Given the description of an element on the screen output the (x, y) to click on. 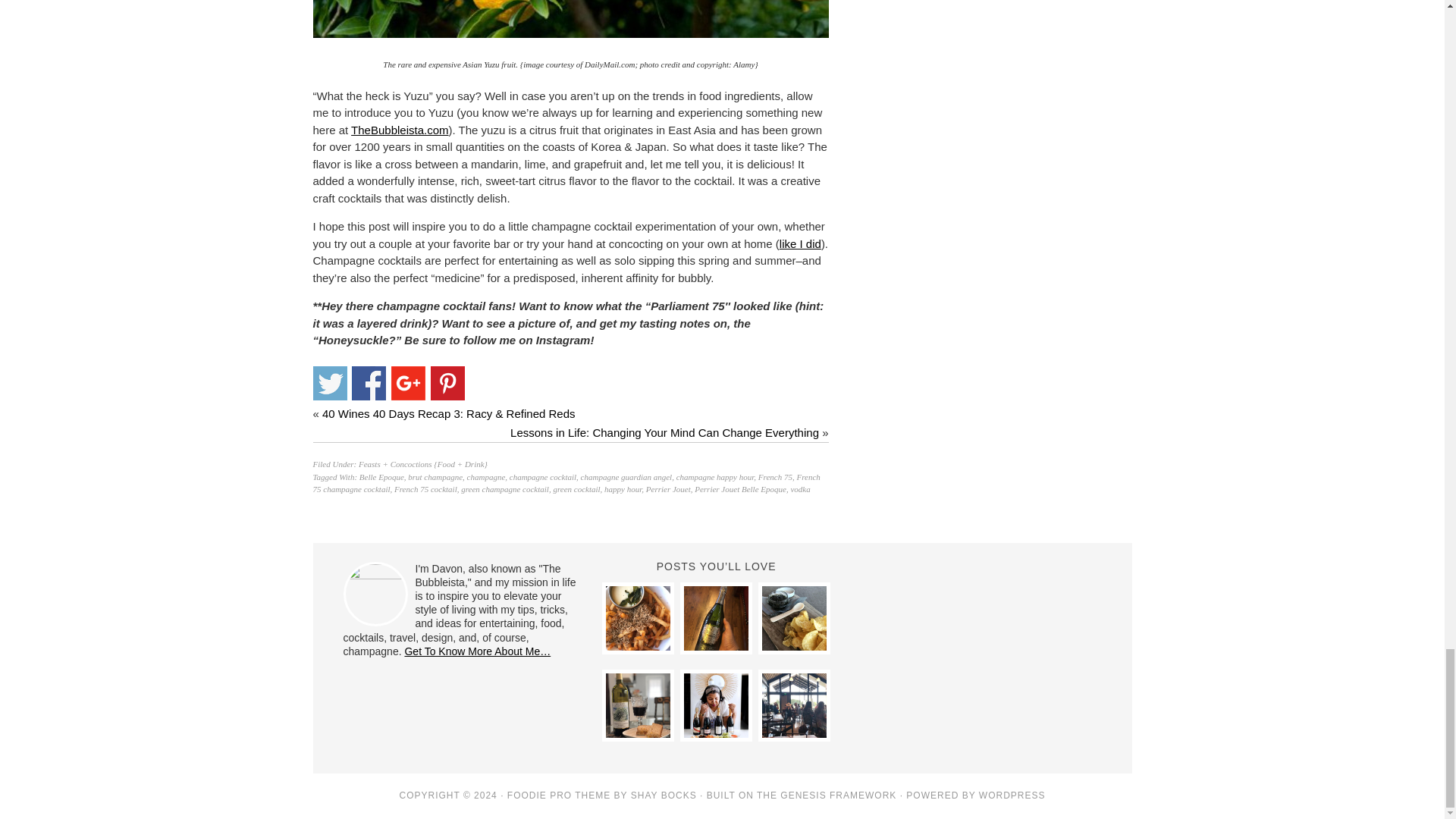
green champagne cocktail (504, 488)
Share on Twitter (329, 383)
happy hour (623, 488)
vodka (799, 488)
French 75 (775, 476)
champagne cocktail (542, 476)
The Bubbleista.com website (399, 129)
like I did (799, 243)
Perrier Jouet (668, 488)
champagne happy hour (715, 476)
Share on Pinterest (447, 383)
Share on Facebook (368, 383)
French 75 cocktail (425, 488)
TheBubbleista.com (399, 129)
Perrier Jouet Belle Epoque (740, 488)
